Given the description of an element on the screen output the (x, y) to click on. 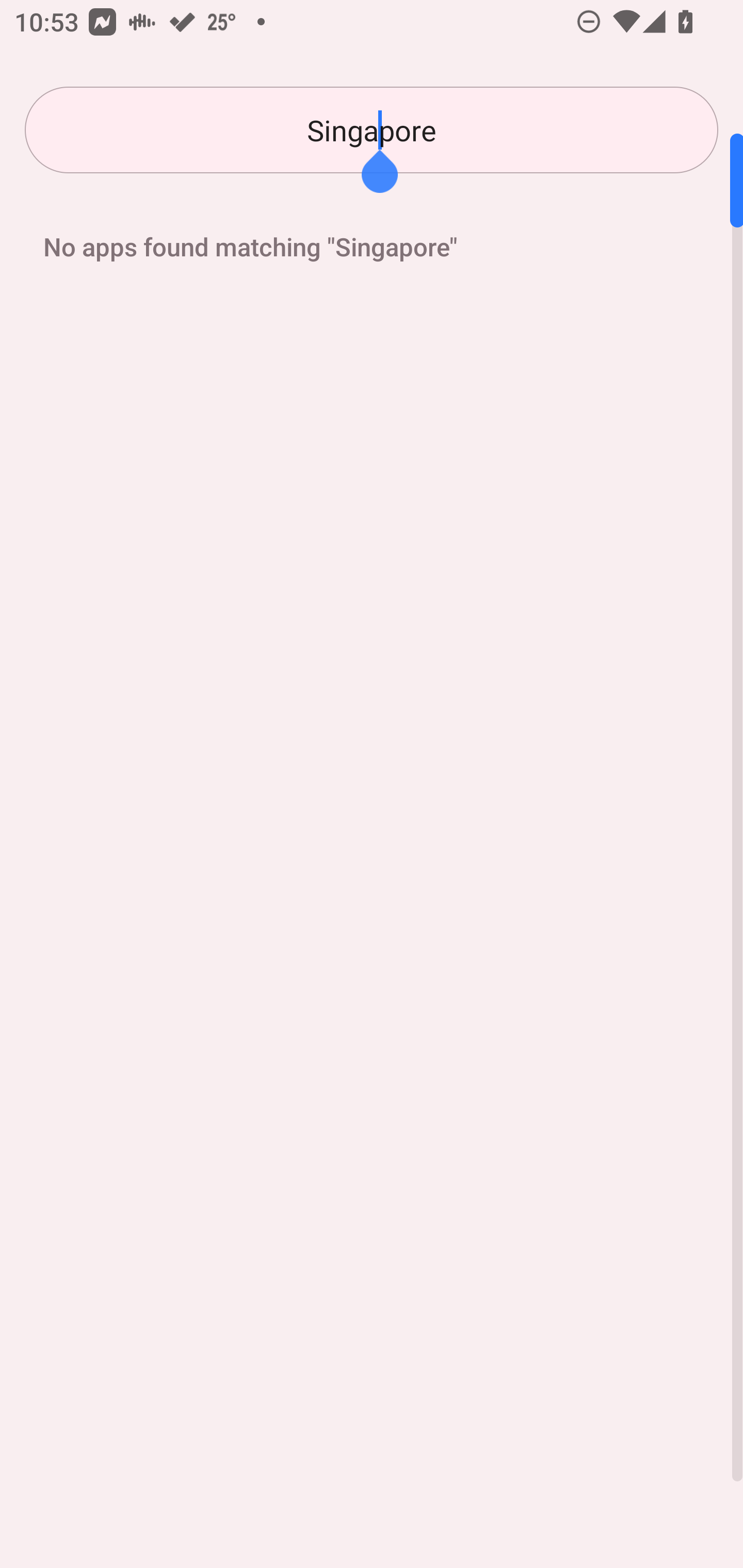
Singapore (371, 130)
